Given the description of an element on the screen output the (x, y) to click on. 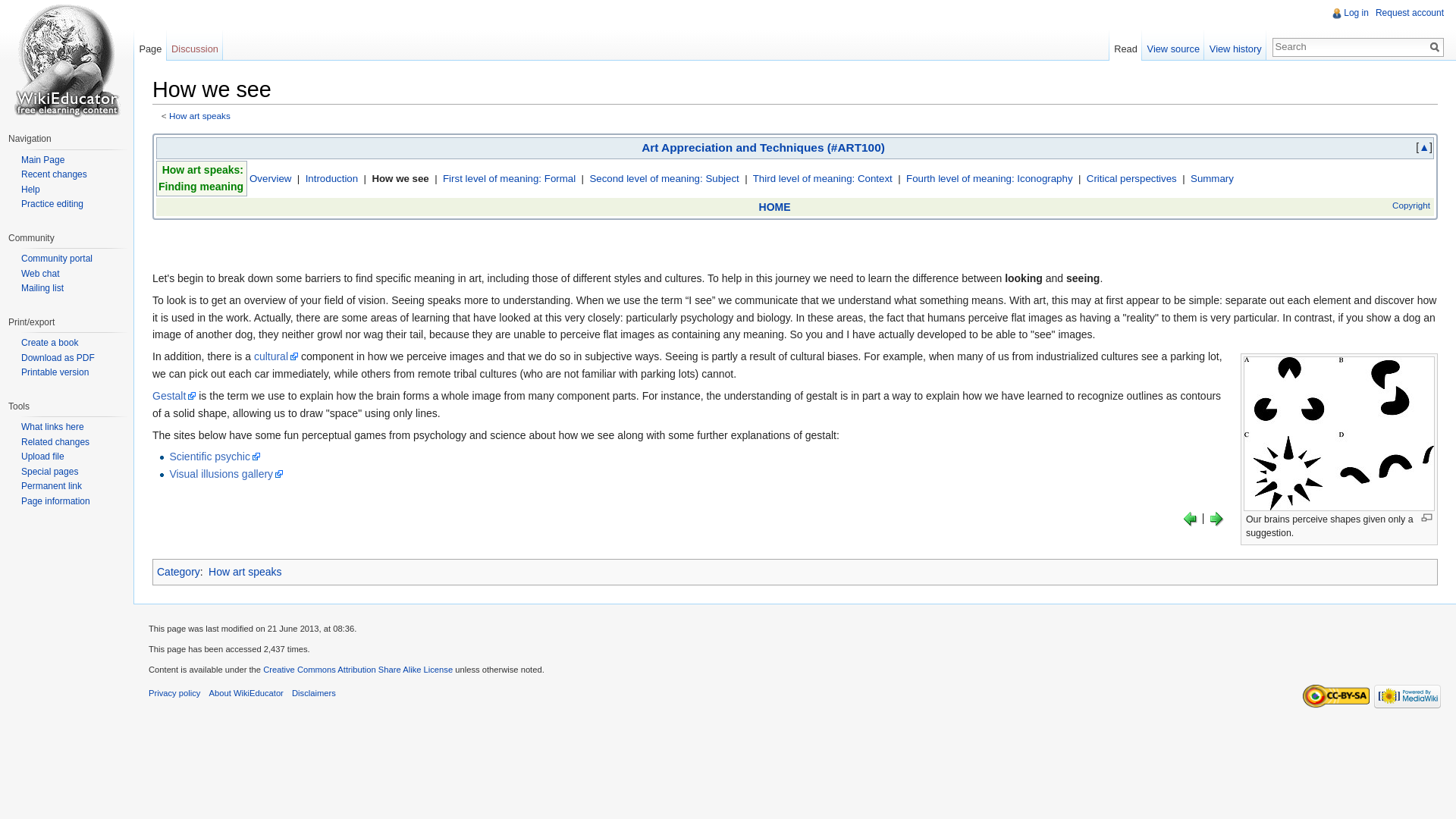
View history (1235, 45)
Main Page (42, 159)
Search (1434, 46)
HOME (774, 206)
Second level of meaning: Subject (663, 178)
Discussion (195, 45)
Copyright (1410, 204)
Go (1434, 46)
How art speaks (199, 115)
cultural (275, 356)
